Given the description of an element on the screen output the (x, y) to click on. 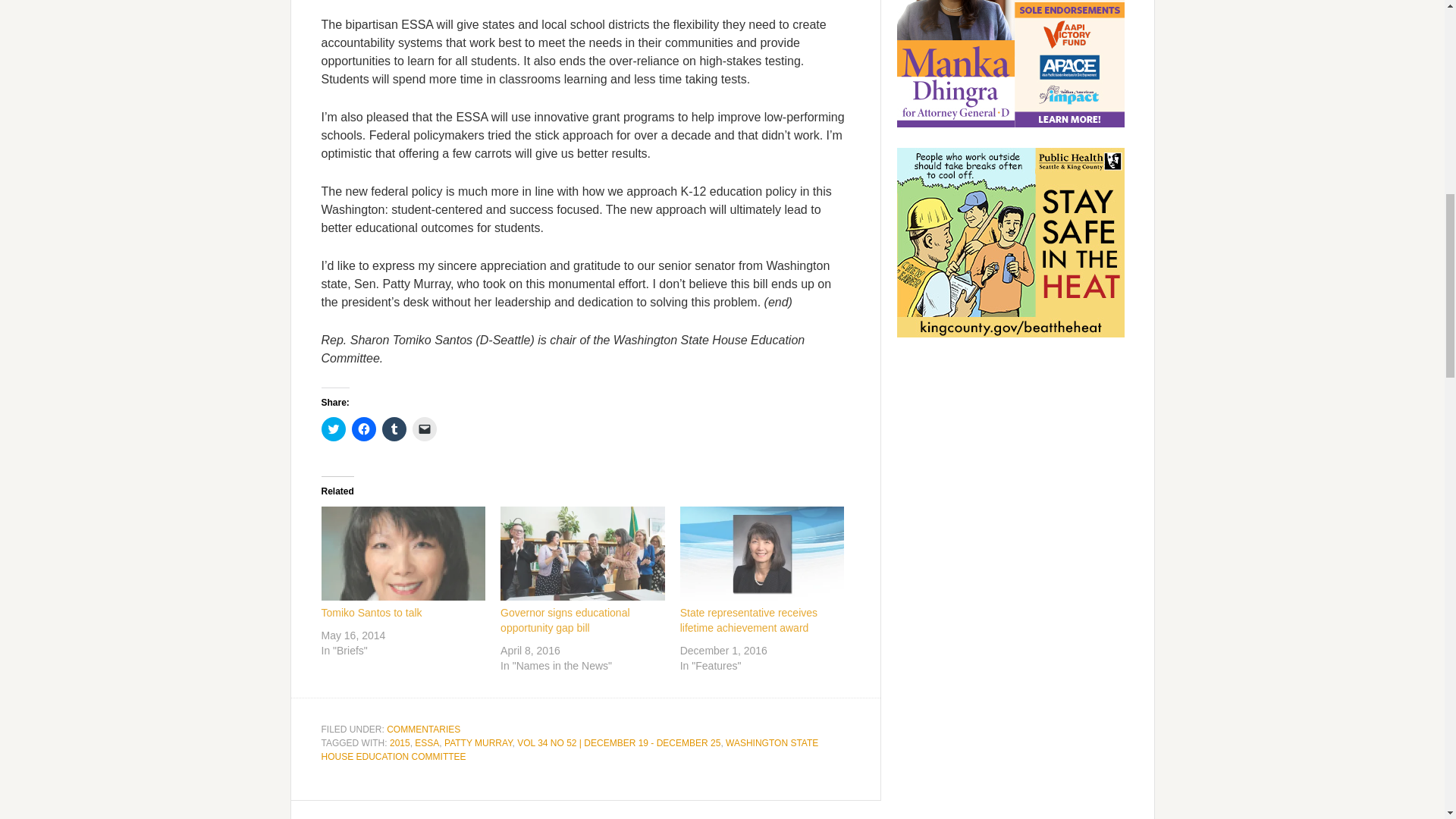
Governor signs educational opportunity gap bill (564, 619)
Governor signs educational opportunity gap bill (582, 553)
Click to email a link to a friend (424, 428)
Tomiko Santos to talk (403, 553)
Click to share on Tumblr (393, 428)
State representative receives lifetime achievement award (761, 553)
Click to share on Twitter (333, 428)
State representative receives lifetime achievement award (747, 619)
Tomiko Santos to talk (371, 612)
Click to share on Facebook (363, 428)
